Given the description of an element on the screen output the (x, y) to click on. 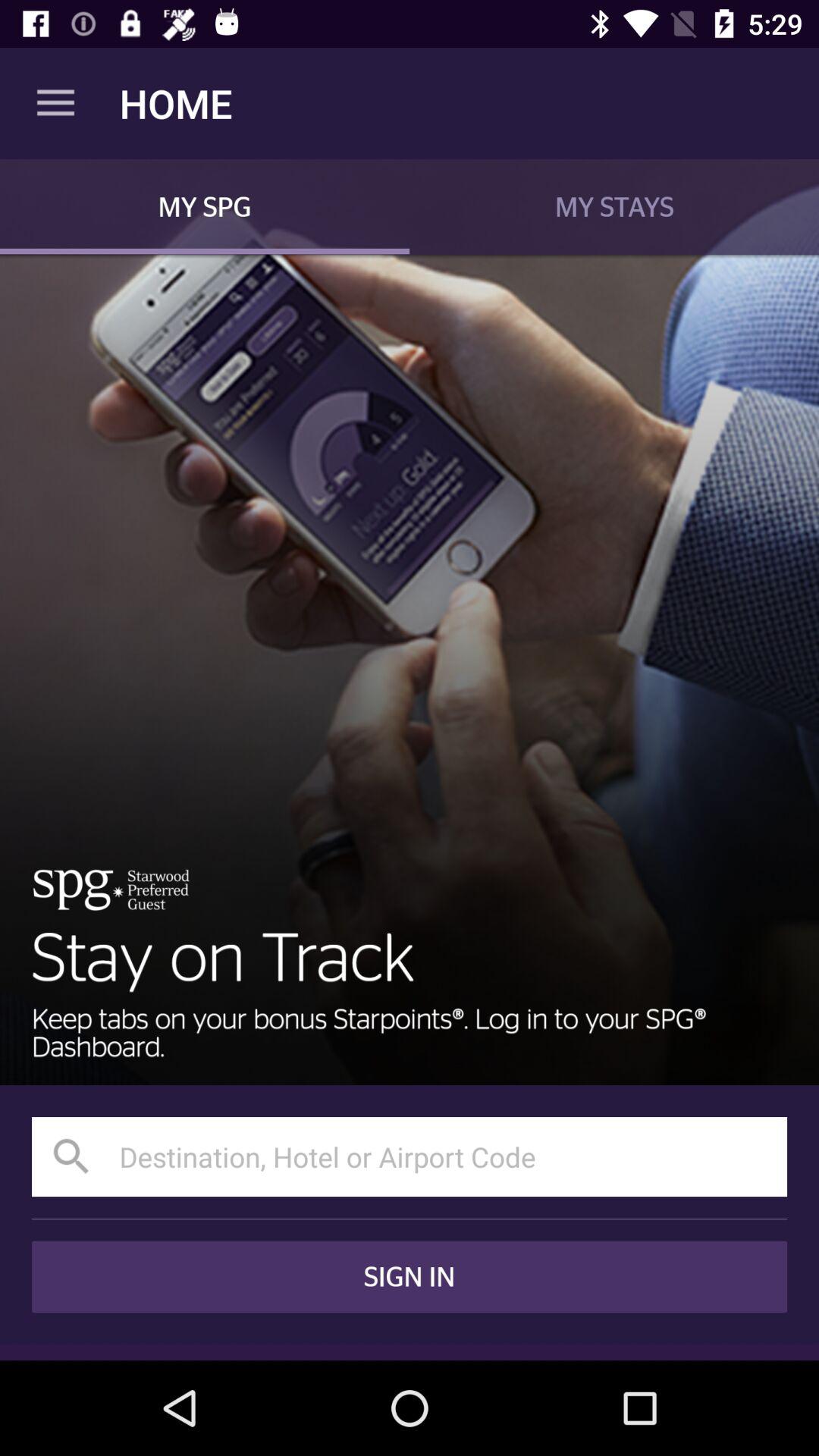
select the icon at the top right corner (614, 206)
